Given the description of an element on the screen output the (x, y) to click on. 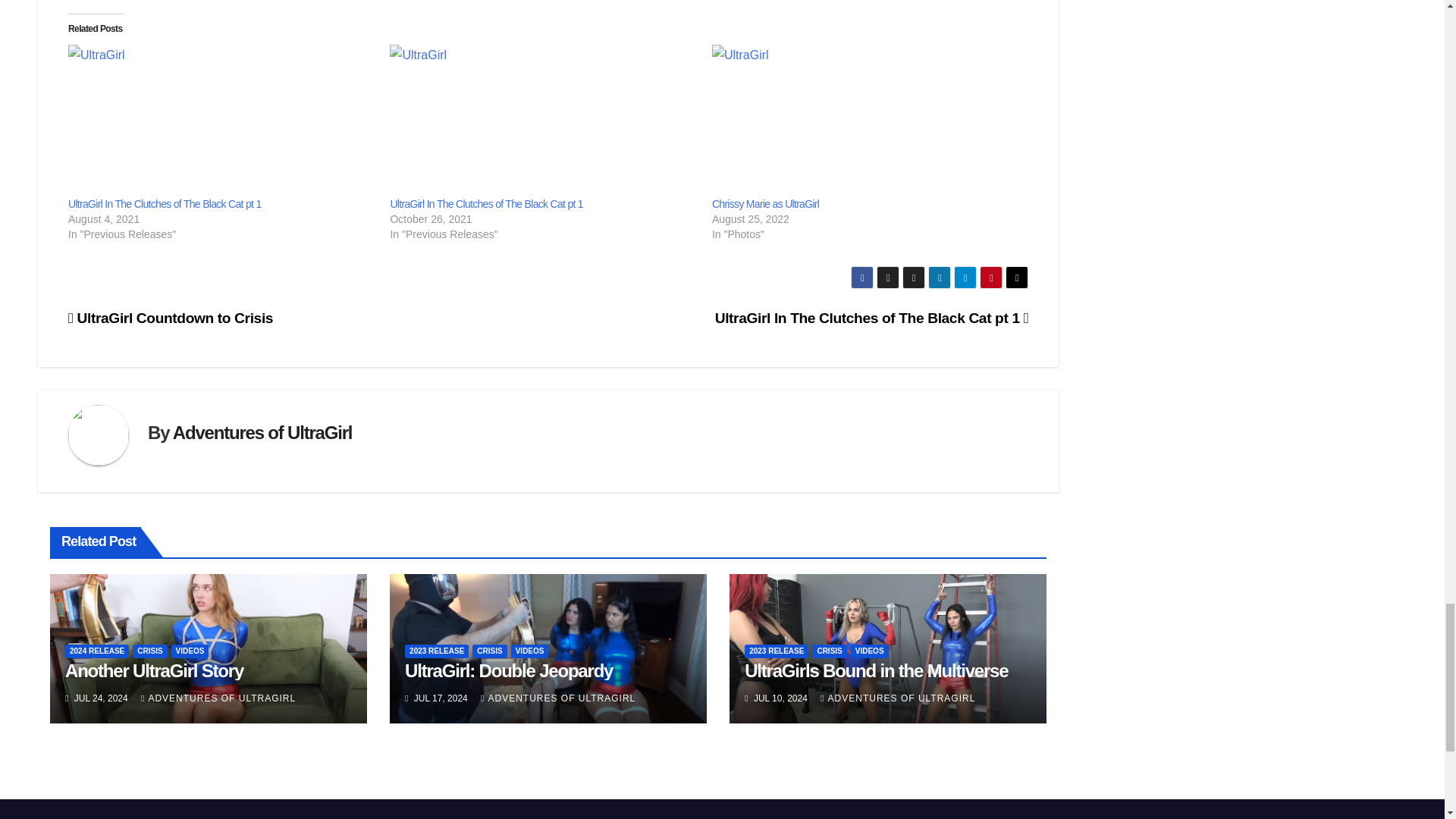
UltraGirl In The Clutches of The Black Cat pt 1 (486, 203)
Chrissy Marie as UltraGirl (864, 120)
Chrissy Marie as UltraGirl (764, 203)
UltraGirl In The Clutches of The Black Cat pt 1 (221, 120)
UltraGirl In The Clutches of The Black Cat pt 1 (542, 120)
UltraGirl In The Clutches of The Black Cat pt 1 (164, 203)
